Given the description of an element on the screen output the (x, y) to click on. 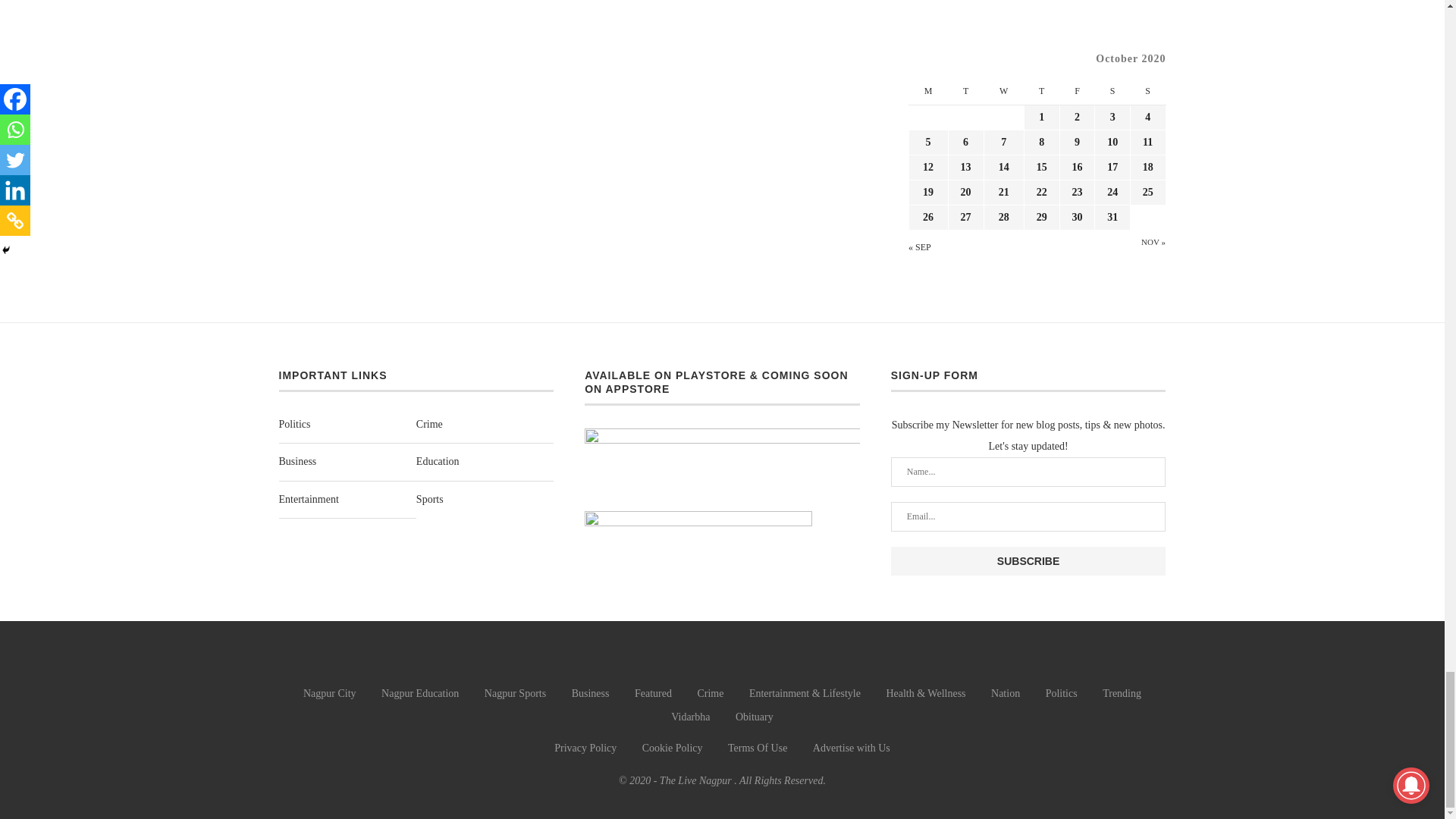
Subscribe (1028, 561)
